Given the description of an element on the screen output the (x, y) to click on. 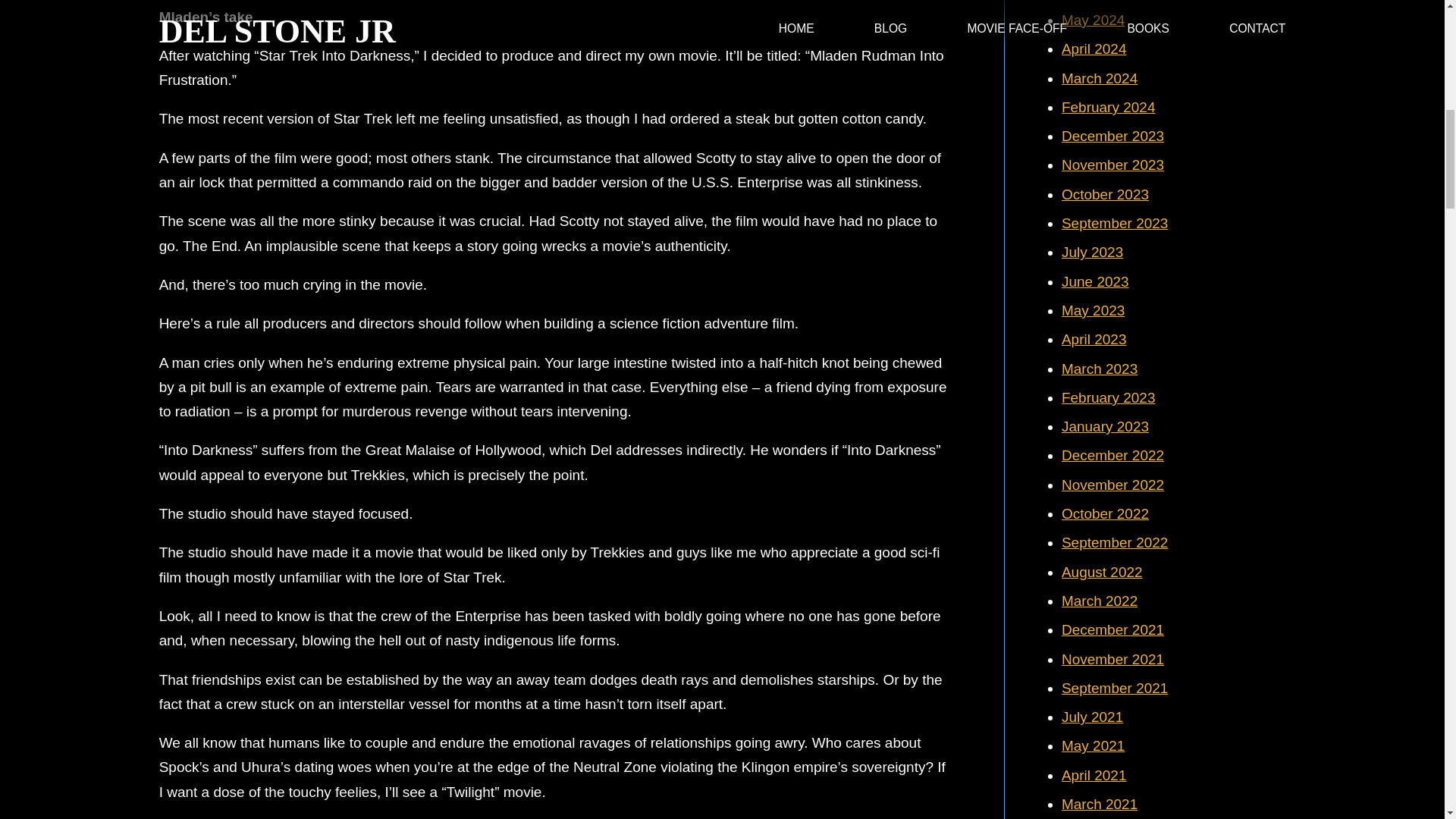
May 2023 (1092, 310)
October 2022 (1104, 513)
January 2023 (1104, 426)
December 2023 (1112, 135)
October 2023 (1104, 194)
July 2023 (1091, 252)
June 2023 (1095, 281)
February 2024 (1108, 107)
February 2023 (1108, 397)
September 2022 (1115, 542)
November 2023 (1112, 164)
March 2023 (1099, 368)
December 2022 (1112, 455)
November 2022 (1112, 484)
May 2024 (1092, 19)
